Given the description of an element on the screen output the (x, y) to click on. 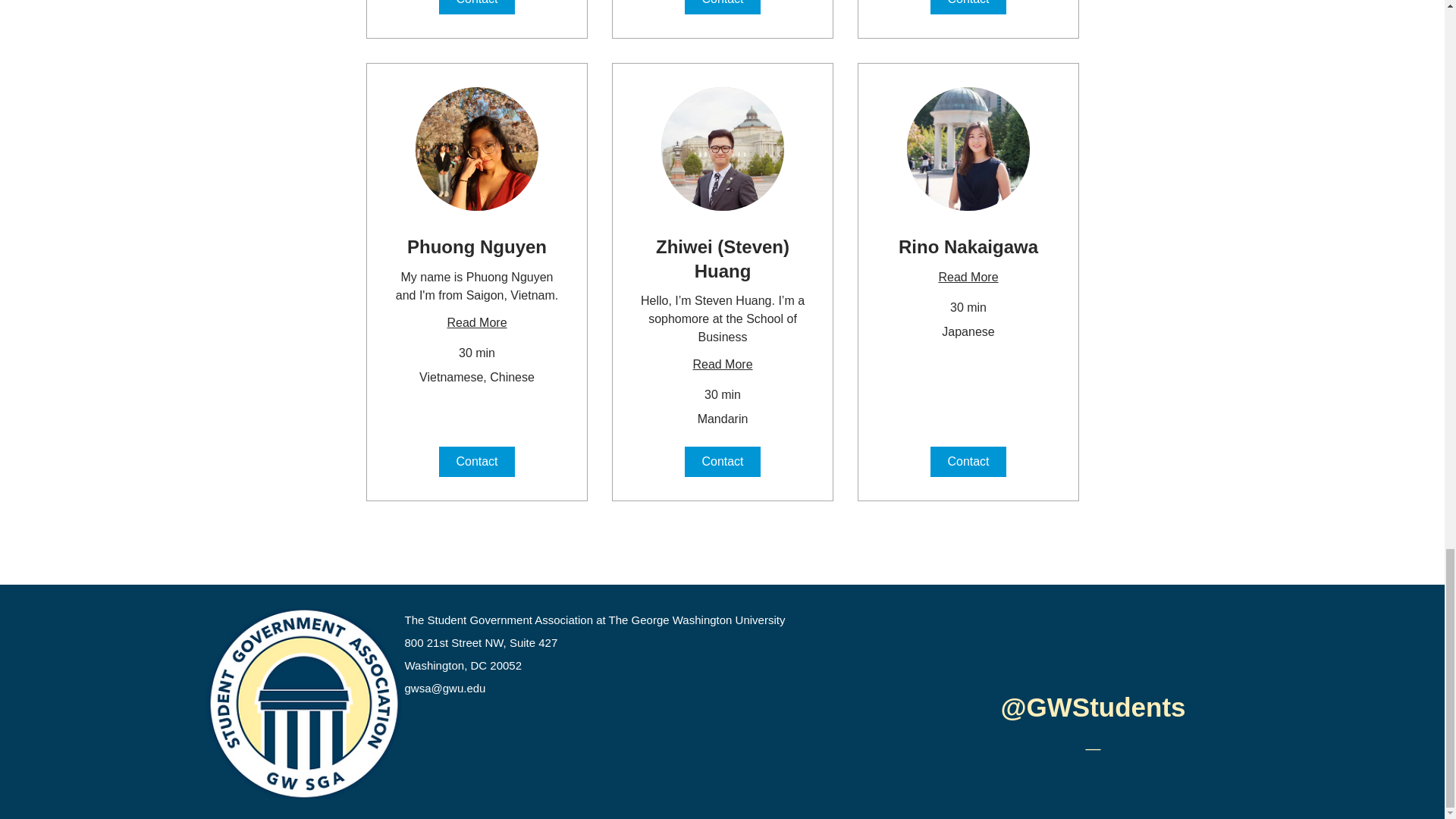
Contact (475, 7)
